Given the description of an element on the screen output the (x, y) to click on. 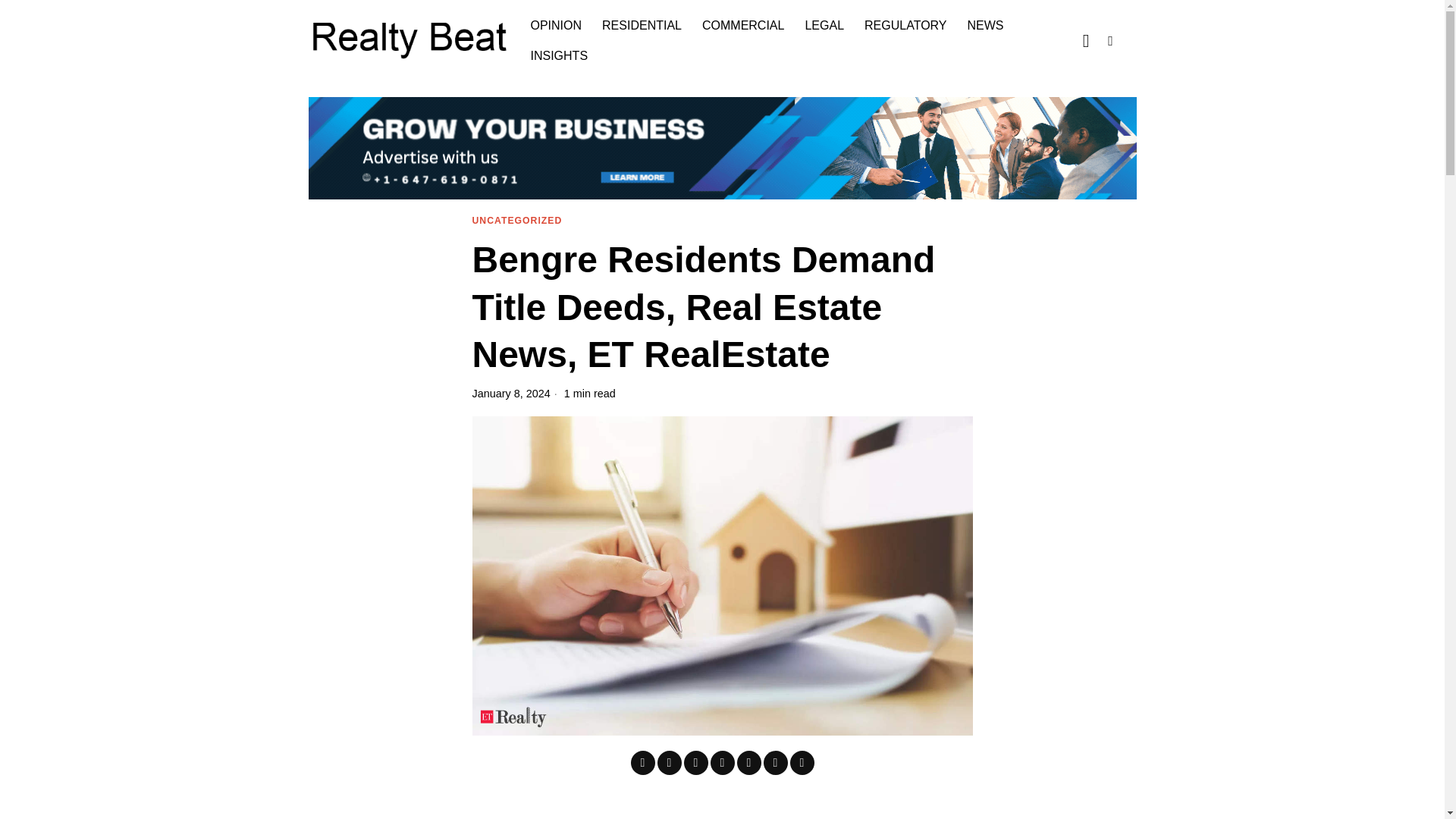
REGULATORY (907, 25)
NEWS (986, 25)
INSIGHTS (560, 55)
LEGAL (825, 25)
OPINION (557, 25)
UNCATEGORIZED (516, 221)
08 Jan, 2024 07:39:22 (510, 393)
RESIDENTIAL (642, 25)
COMMERCIAL (743, 25)
